Given the description of an element on the screen output the (x, y) to click on. 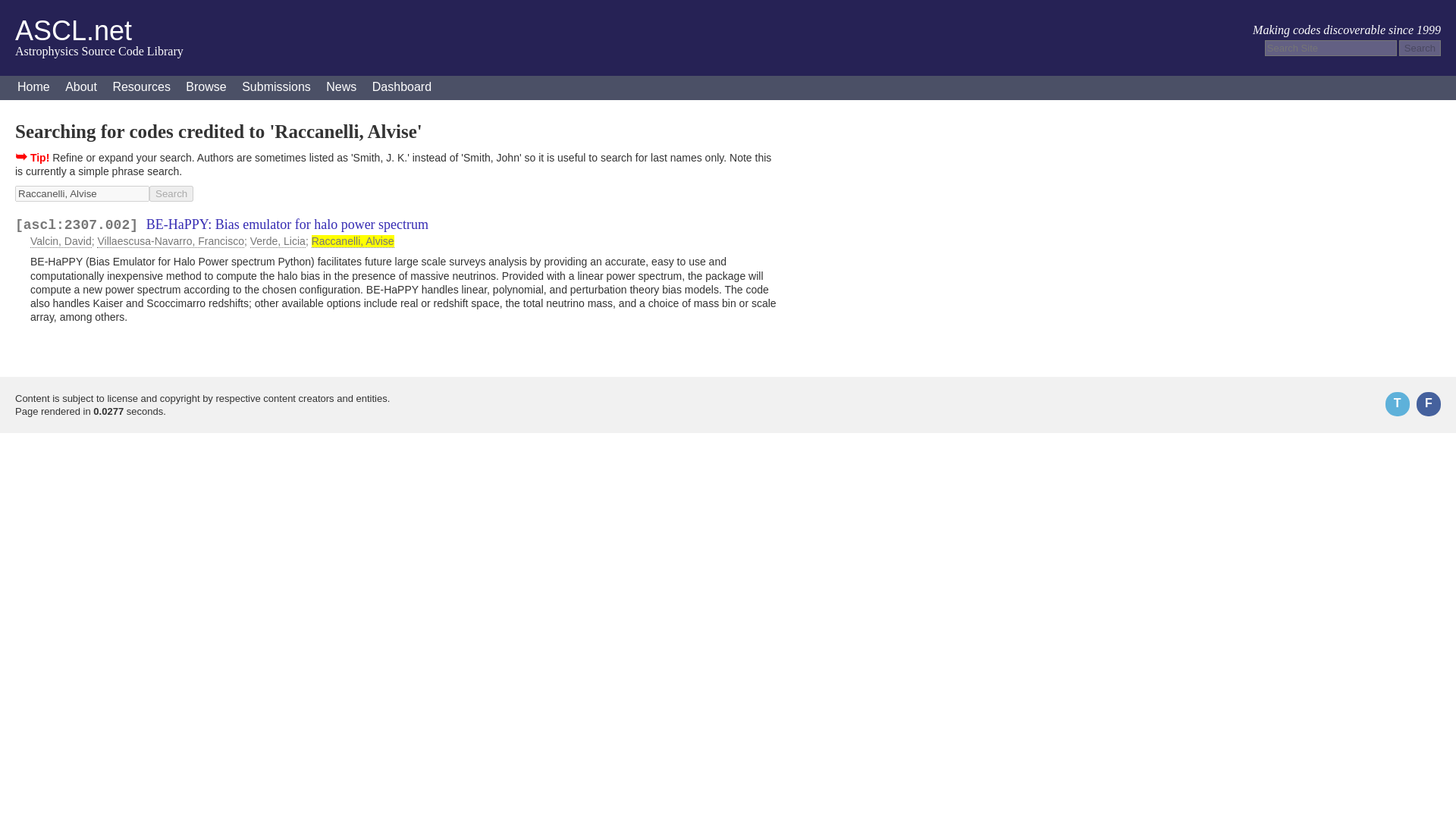
Villaescusa-Navarro, Francisco (170, 241)
Verde, Licia (277, 241)
Like ASCL on Facebook (1428, 404)
BE-HaPPY: Bias emulator for halo power spectrum (287, 224)
Raccanelli, Alvise (81, 193)
Search (1420, 48)
Dashboard (402, 87)
Submissions (276, 87)
Browse (205, 87)
Raccanelli, Alvise (352, 241)
Resources (141, 87)
T (1397, 404)
Follow ASCL on Twitter (1397, 404)
F (1428, 404)
Search (171, 193)
